Given the description of an element on the screen output the (x, y) to click on. 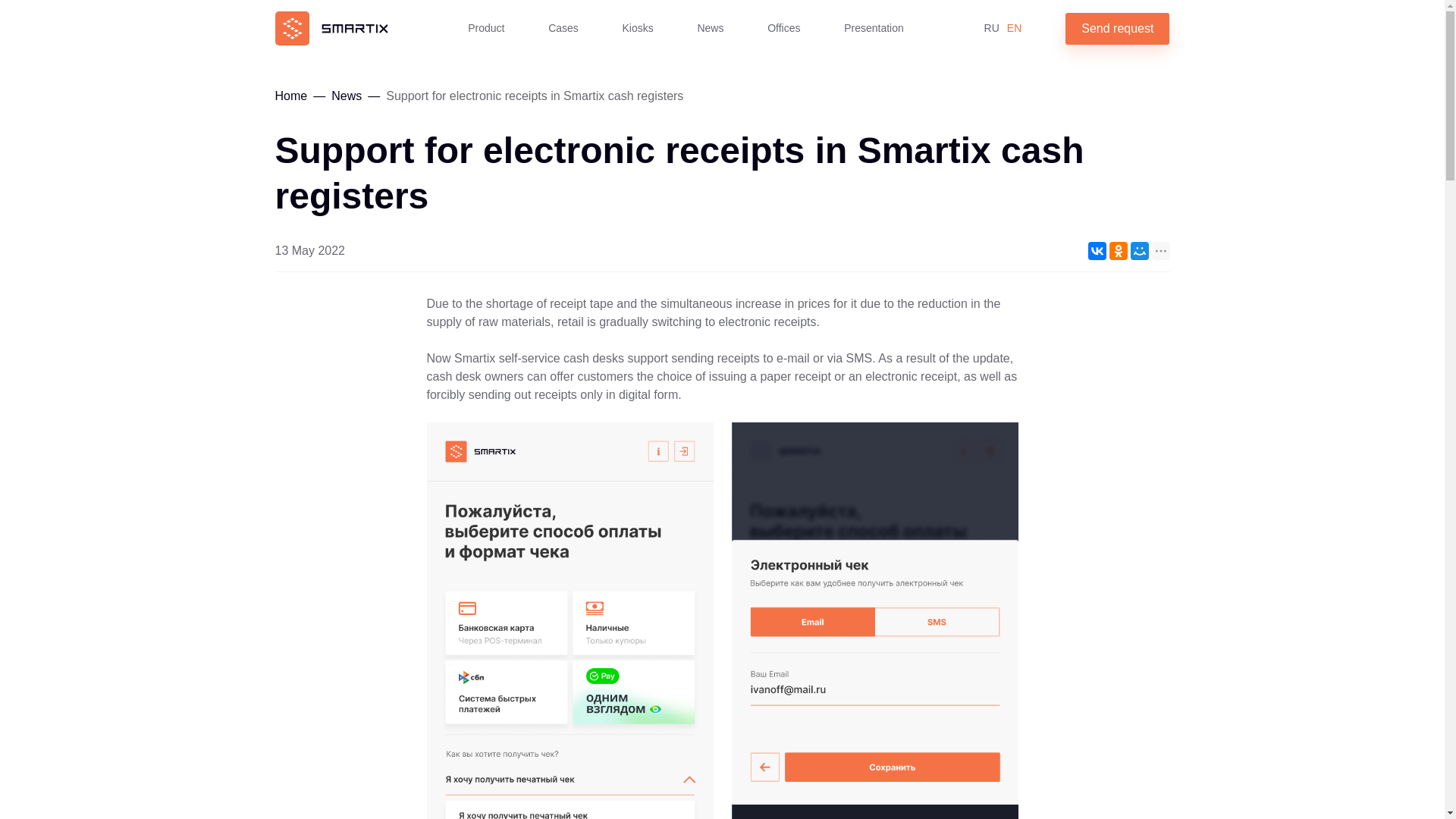
Presentation (874, 27)
smartix (331, 28)
Send request (1117, 28)
Cases (563, 27)
News (710, 27)
Kiosks (638, 27)
Product (485, 27)
Offices (783, 27)
EN (1014, 28)
RU (991, 28)
